Given the description of an element on the screen output the (x, y) to click on. 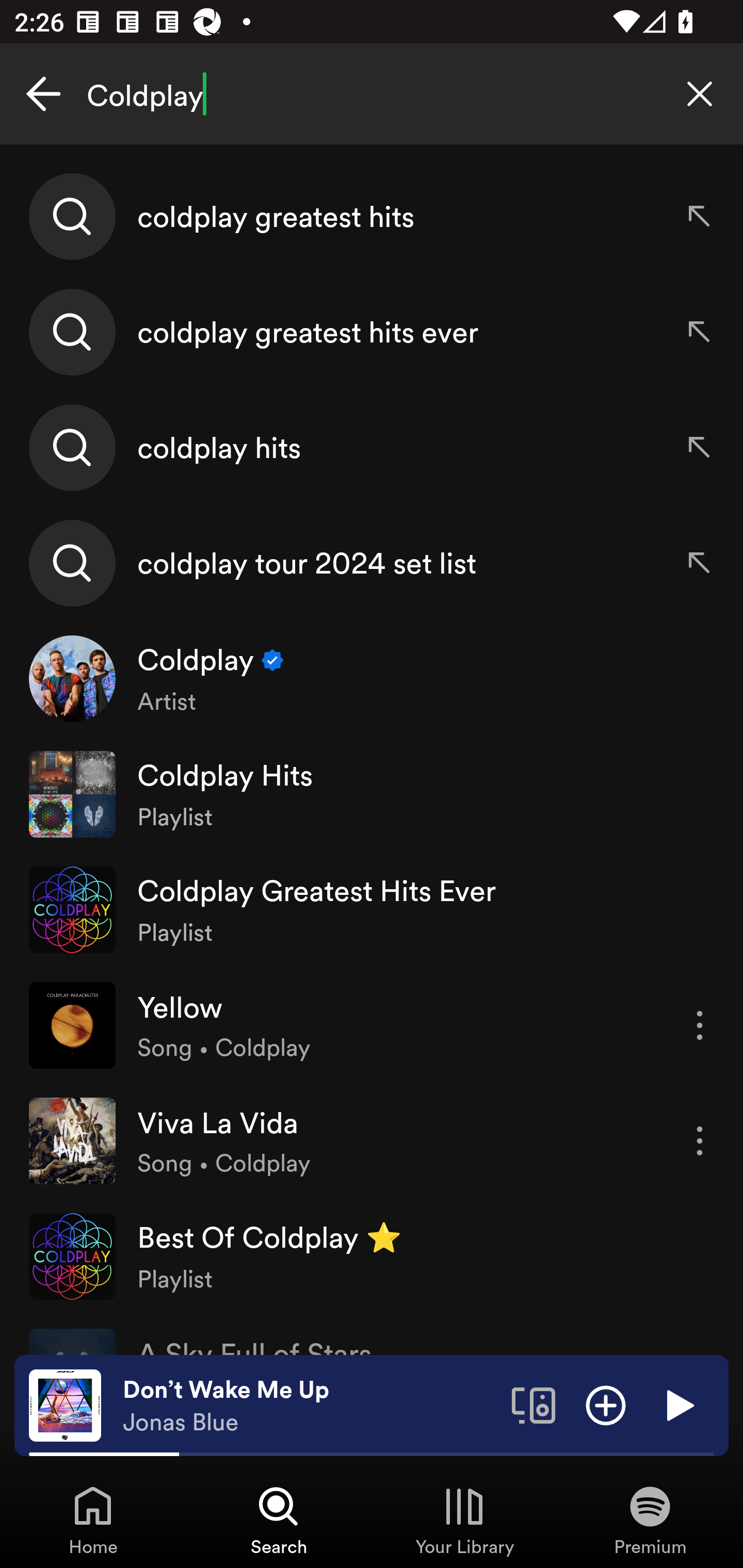
Coldplay (371, 93)
Cancel (43, 93)
Clear search query (699, 93)
coldplay greatest hits (371, 216)
coldplay greatest hits ever (371, 332)
coldplay hits (371, 447)
coldplay tour 2024 set list (371, 562)
Coldplay Verified Artist (371, 678)
Coldplay Hits Playlist (371, 793)
Coldplay Greatest Hits Ever Playlist (371, 909)
More options for song Yellow (699, 1025)
More options for song Viva La Vida (699, 1140)
Best Of Coldplay ⭐ Playlist (371, 1255)
Don’t Wake Me Up Jonas Blue (309, 1405)
The cover art of the currently playing track (64, 1404)
Connect to a device. Opens the devices menu (533, 1404)
Add item (605, 1404)
Play (677, 1404)
Home, Tab 1 of 4 Home Home (92, 1519)
Search, Tab 2 of 4 Search Search (278, 1519)
Your Library, Tab 3 of 4 Your Library Your Library (464, 1519)
Premium, Tab 4 of 4 Premium Premium (650, 1519)
